Given the description of an element on the screen output the (x, y) to click on. 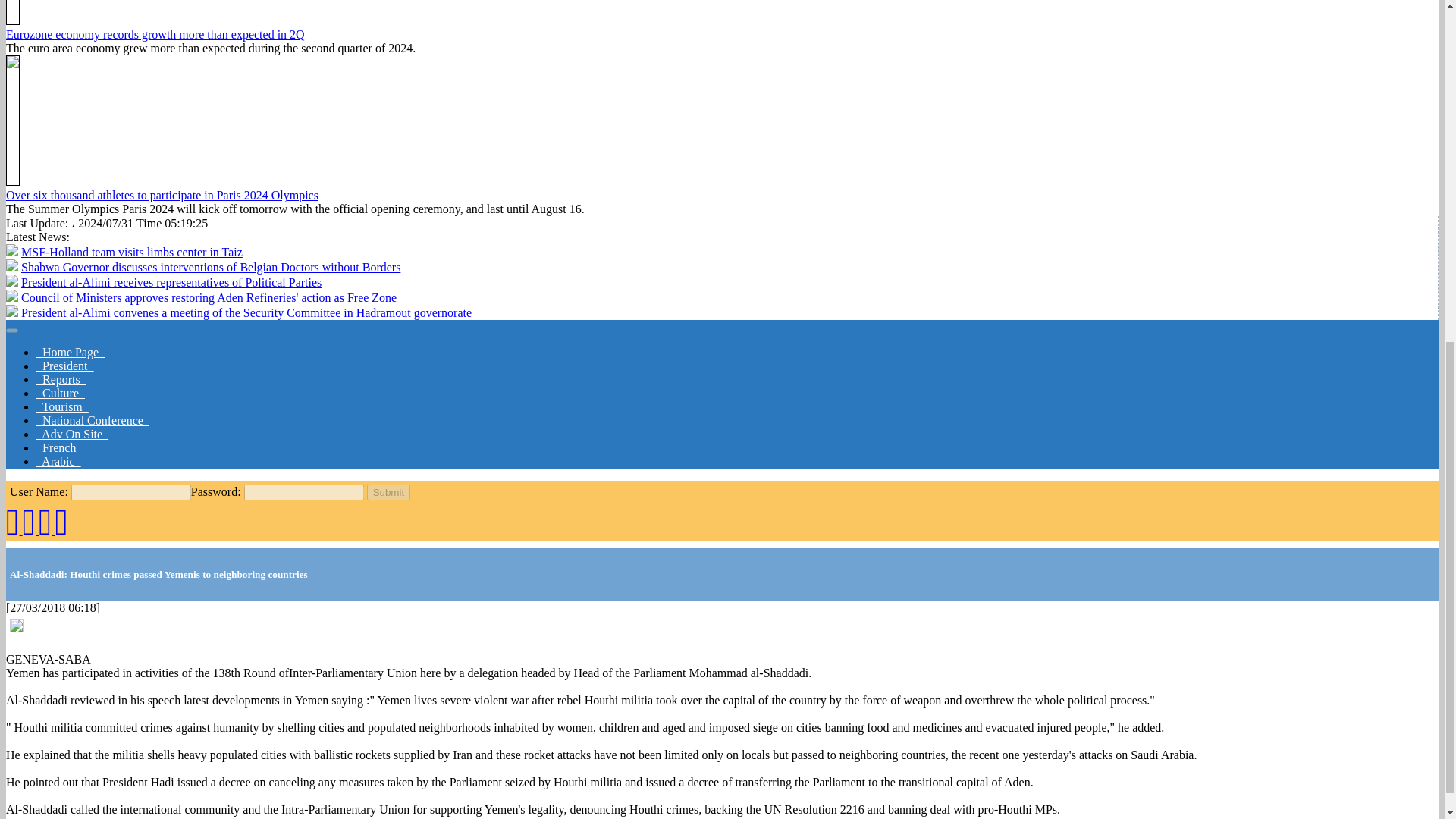
  French   (58, 447)
Submit (388, 492)
  Arabic   (58, 461)
  Culture   (60, 392)
MSF-Holland team visits limbs center in Taiz (132, 251)
Eurozone economy records growth more than expected in 2Q (154, 33)
  Home Page   (70, 351)
  Adv On Site   (71, 433)
Submit (388, 492)
  National Conference   (92, 420)
  Reports   (60, 379)
